Given the description of an element on the screen output the (x, y) to click on. 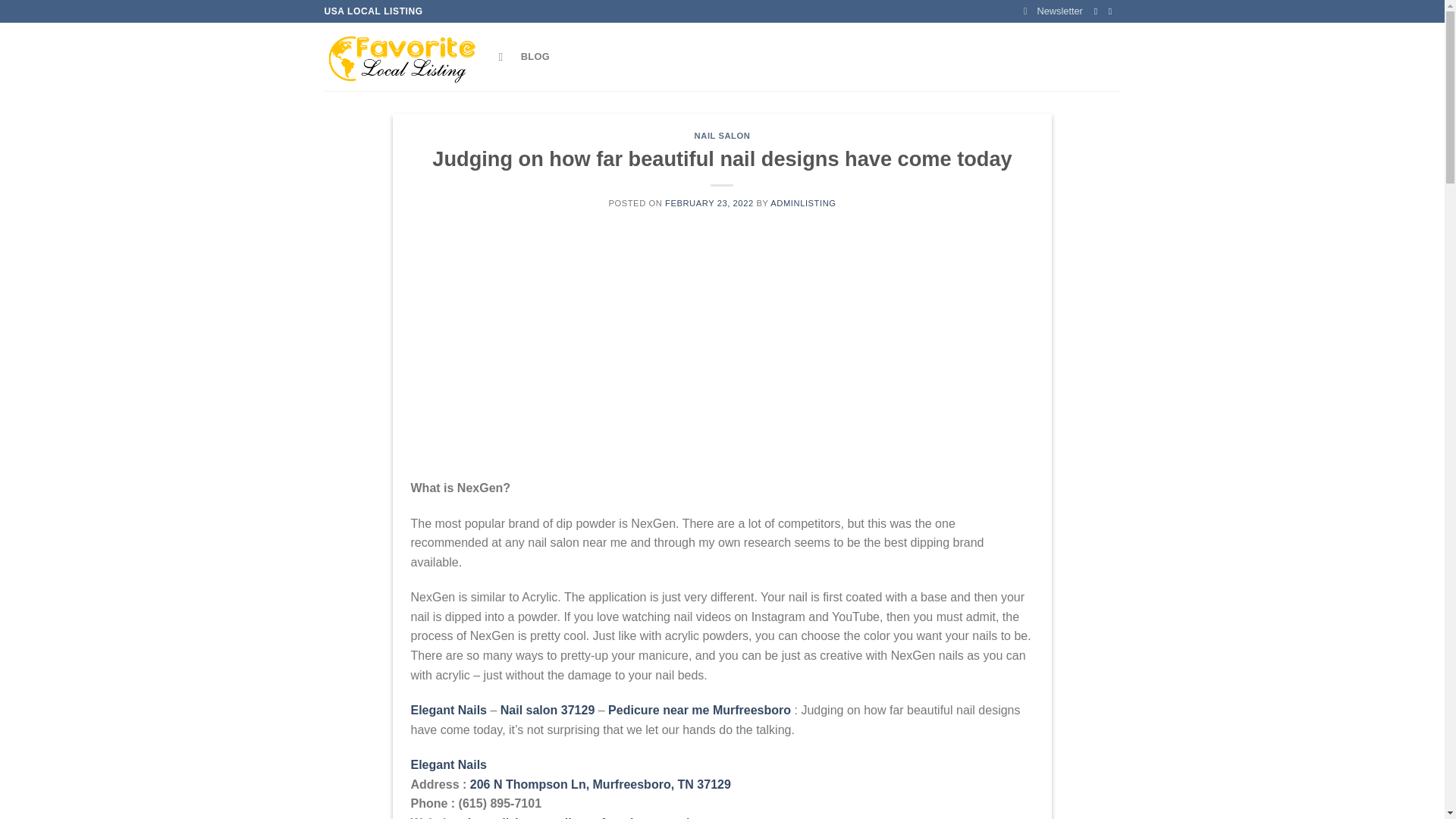
Pedicure near me Murfreesboro (699, 709)
Elegant Nails (448, 764)
Sign up for Newsletter (1053, 11)
FEBRUARY 23, 2022 (709, 203)
Elegant Nails (448, 709)
ADMINLISTING (802, 203)
Nail salon 37129 (547, 709)
NAIL SALON (722, 135)
Newsletter (1053, 11)
206 N Thompson Ln, Murfreesboro, TN 37129 (600, 784)
